Given the description of an element on the screen output the (x, y) to click on. 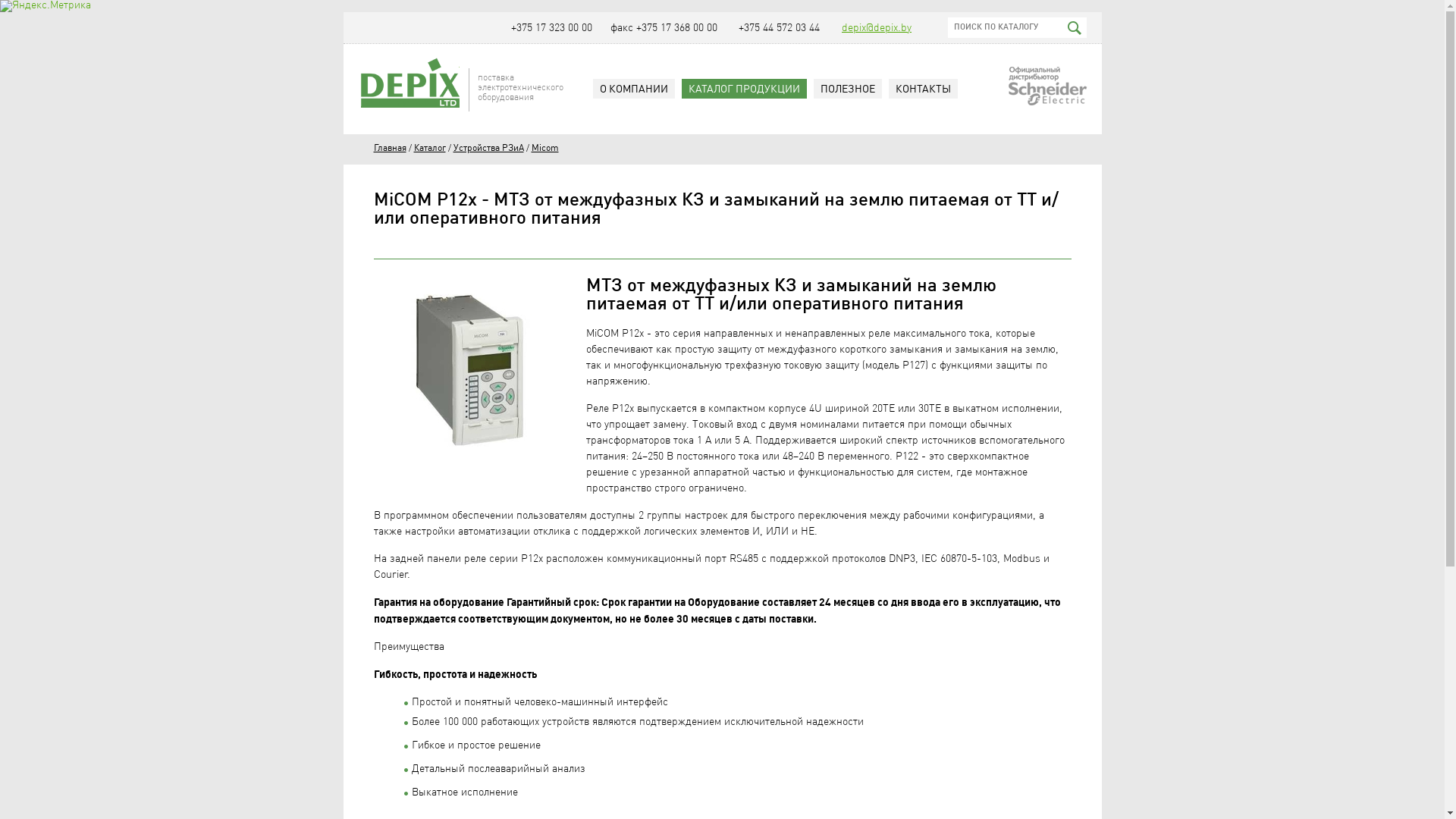
Micom Element type: text (544, 147)
depix@depix.by Element type: text (876, 27)
Depix trade Element type: text (409, 82)
